Given the description of an element on the screen output the (x, y) to click on. 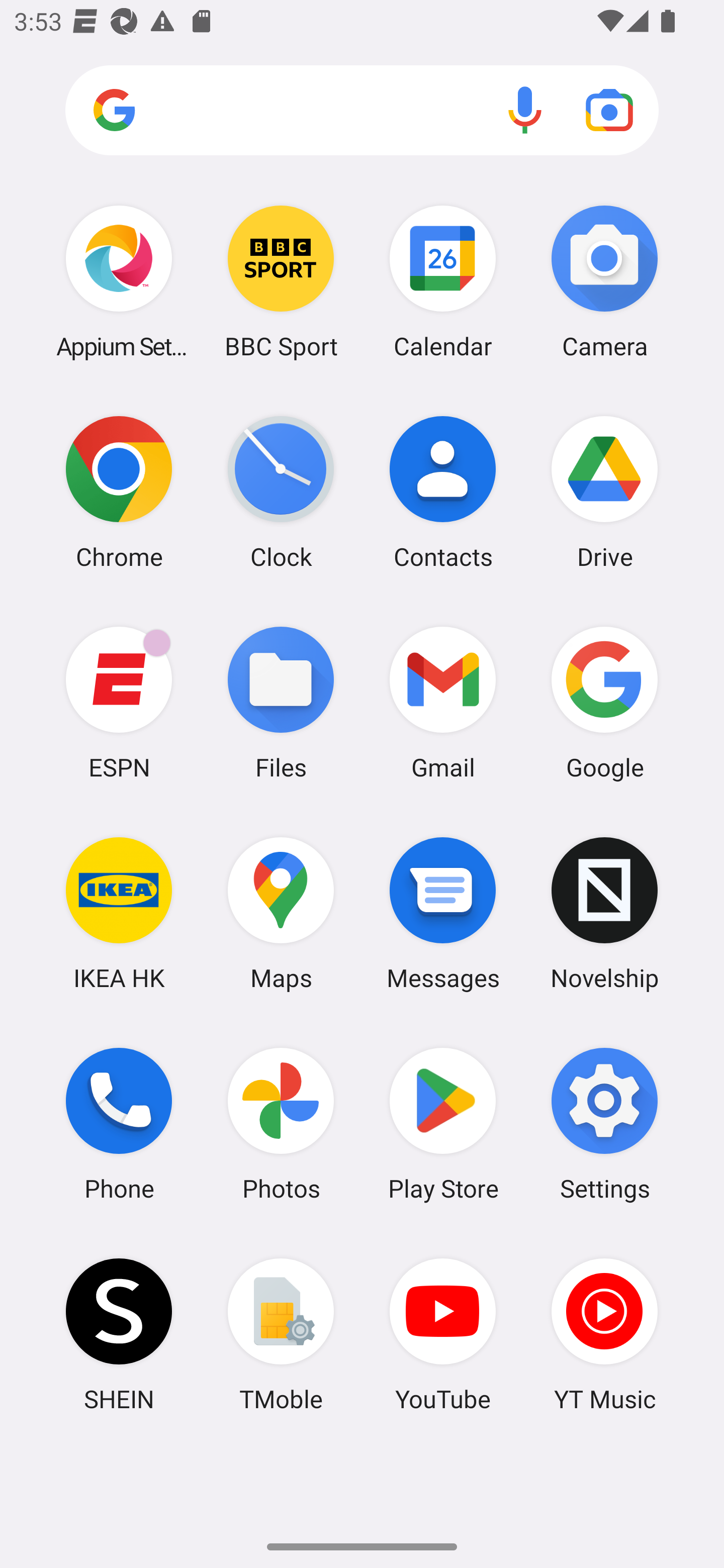
Search apps, web and more (361, 110)
Voice search (524, 109)
Google Lens (608, 109)
Appium Settings (118, 281)
BBC Sport (280, 281)
Calendar (443, 281)
Camera (604, 281)
Chrome (118, 492)
Clock (280, 492)
Contacts (443, 492)
Drive (604, 492)
ESPN ESPN has 3 notifications (118, 702)
Files (280, 702)
Gmail (443, 702)
Google (604, 702)
IKEA HK (118, 913)
Maps (280, 913)
Messages (443, 913)
Novelship (604, 913)
Phone (118, 1124)
Photos (280, 1124)
Play Store (443, 1124)
Settings (604, 1124)
SHEIN (118, 1334)
TMoble (280, 1334)
YouTube (443, 1334)
YT Music (604, 1334)
